Given the description of an element on the screen output the (x, y) to click on. 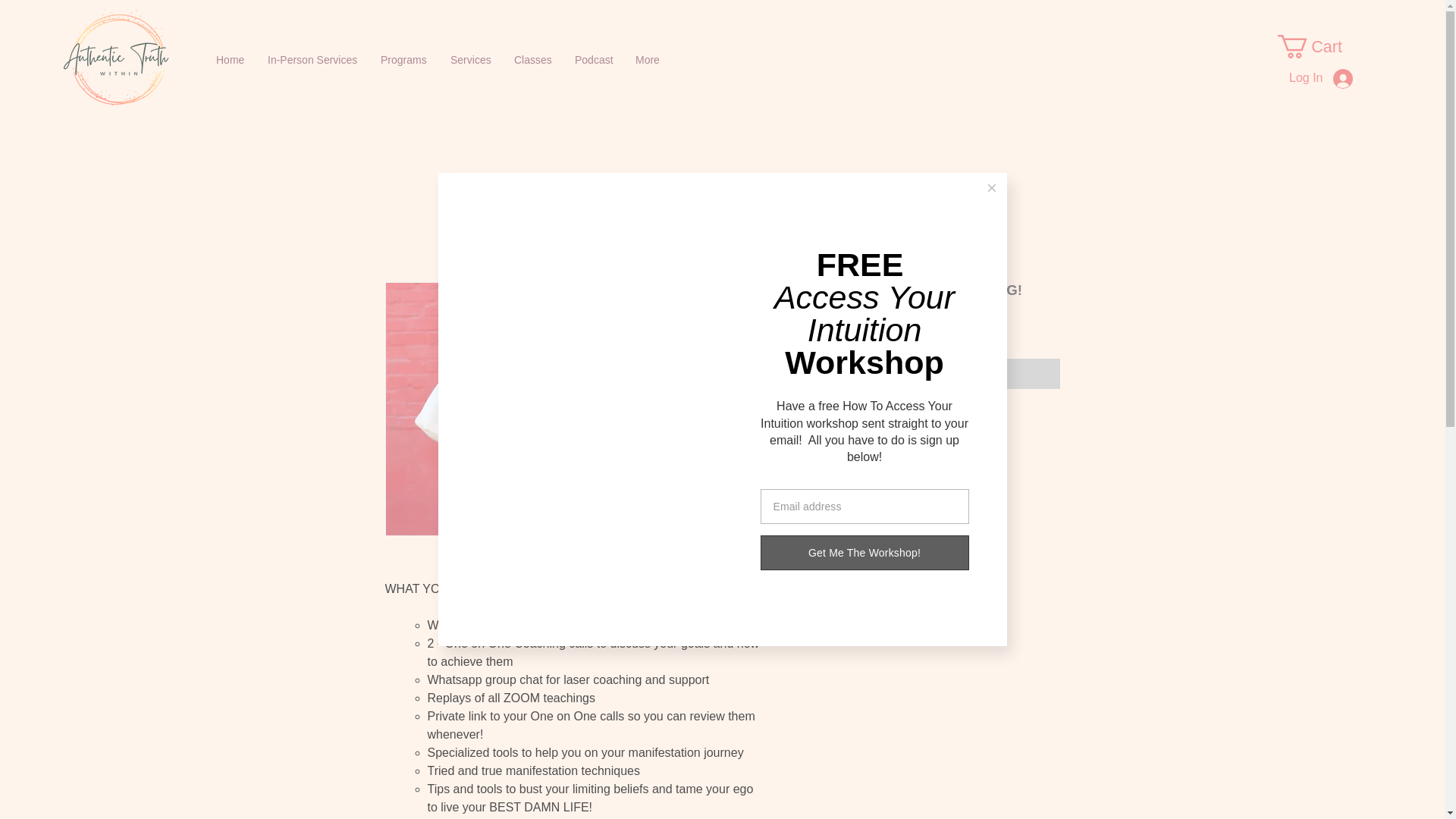
Classes (532, 59)
In-Person Services (312, 59)
Cart (1323, 46)
Out of Stock (924, 373)
Podcast (593, 59)
Log In (1320, 77)
Home (230, 59)
Get Me The Workshop! (864, 552)
Cart (1323, 46)
